Given the description of an element on the screen output the (x, y) to click on. 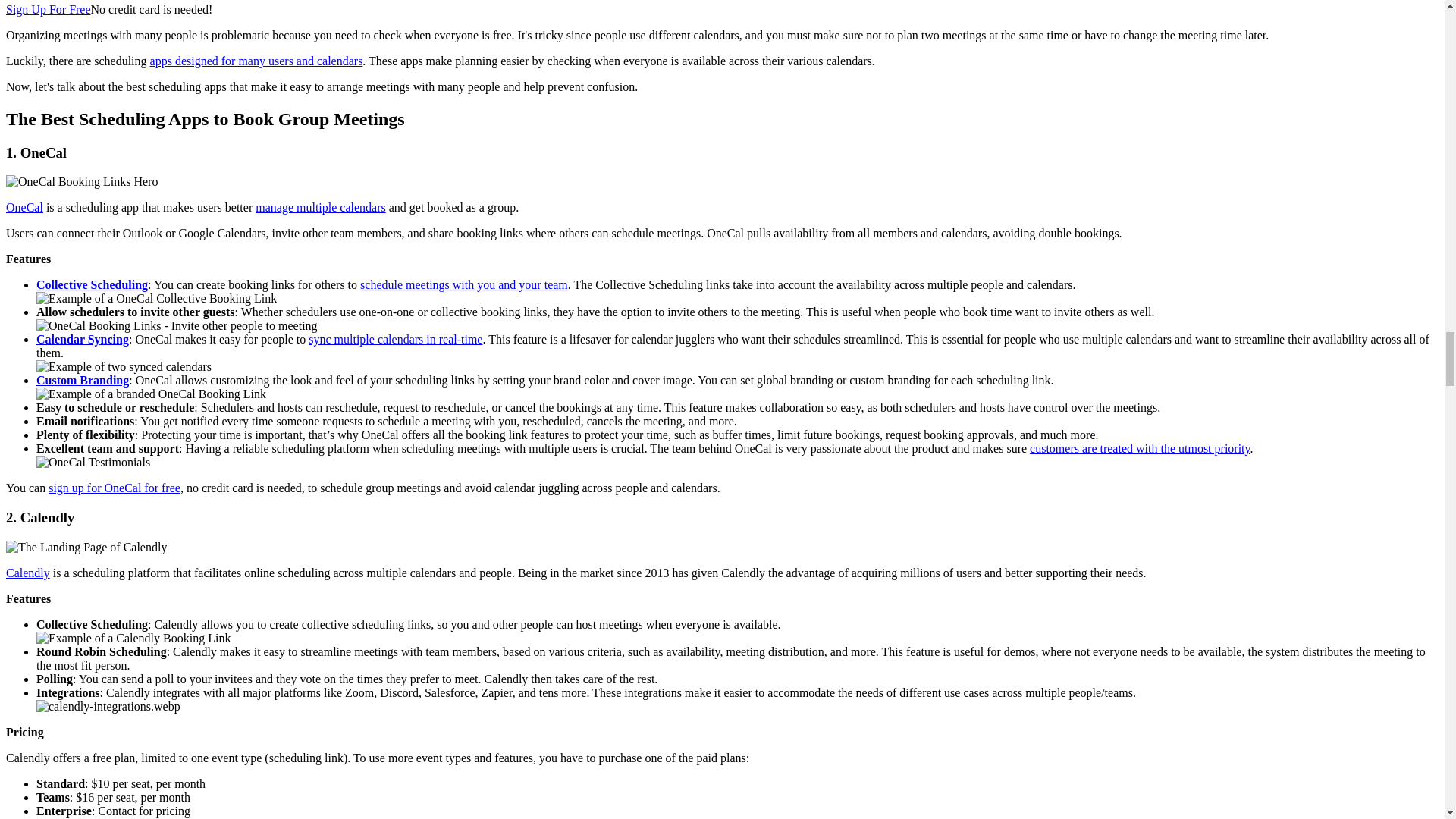
calendly-booking-link.webp (133, 638)
manage multiple calendars (320, 206)
links-custom-branding.webp (151, 394)
Sign Up For Free (47, 9)
apps designed for many users and calendars (255, 60)
Collective Scheduling (92, 284)
OneCal (24, 206)
Landing Page ilustration.webp (123, 366)
calendly.webp (86, 547)
sign up for OneCal for free (114, 487)
